Given the description of an element on the screen output the (x, y) to click on. 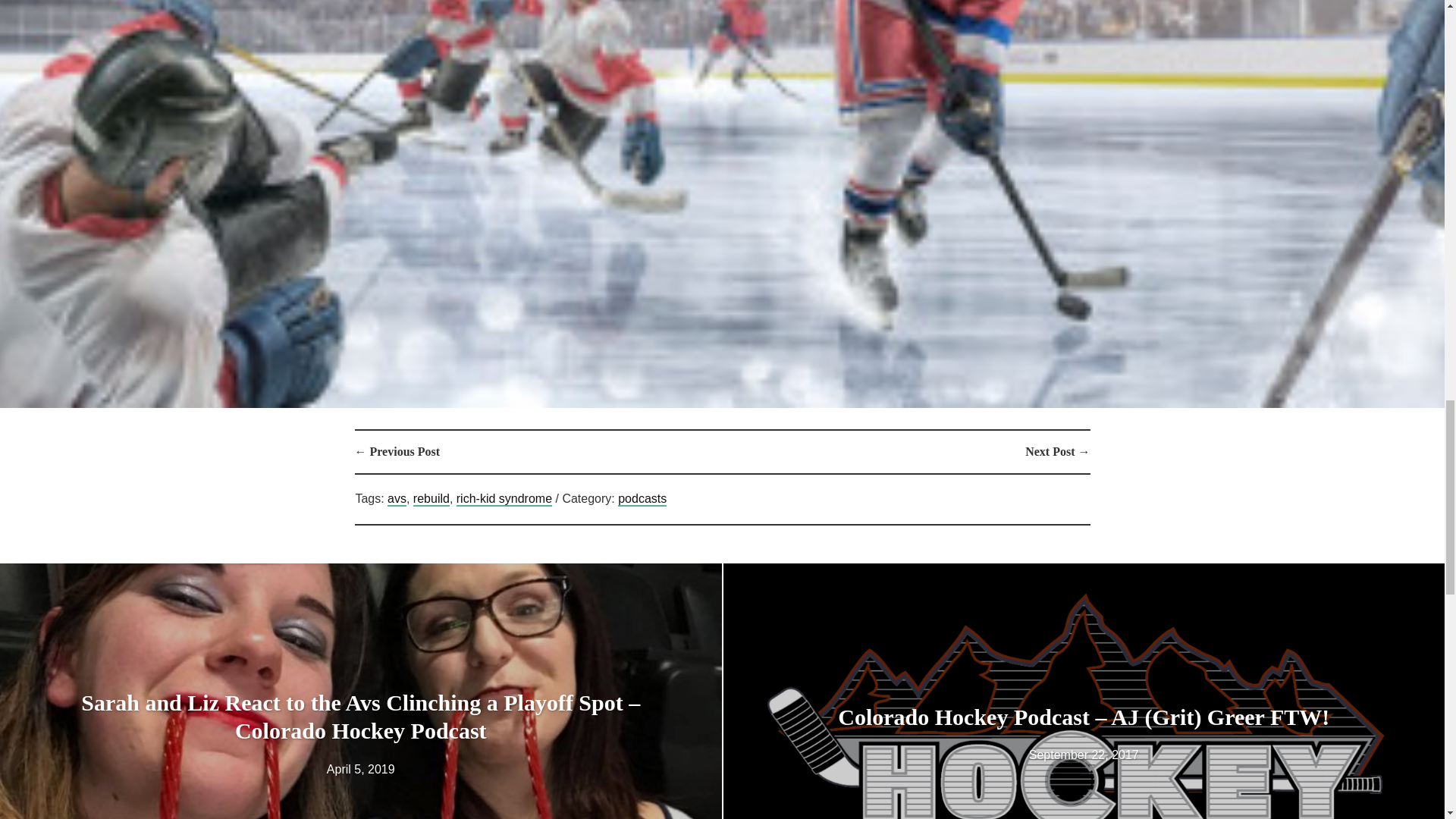
avs (396, 499)
rebuild (431, 499)
